Given the description of an element on the screen output the (x, y) to click on. 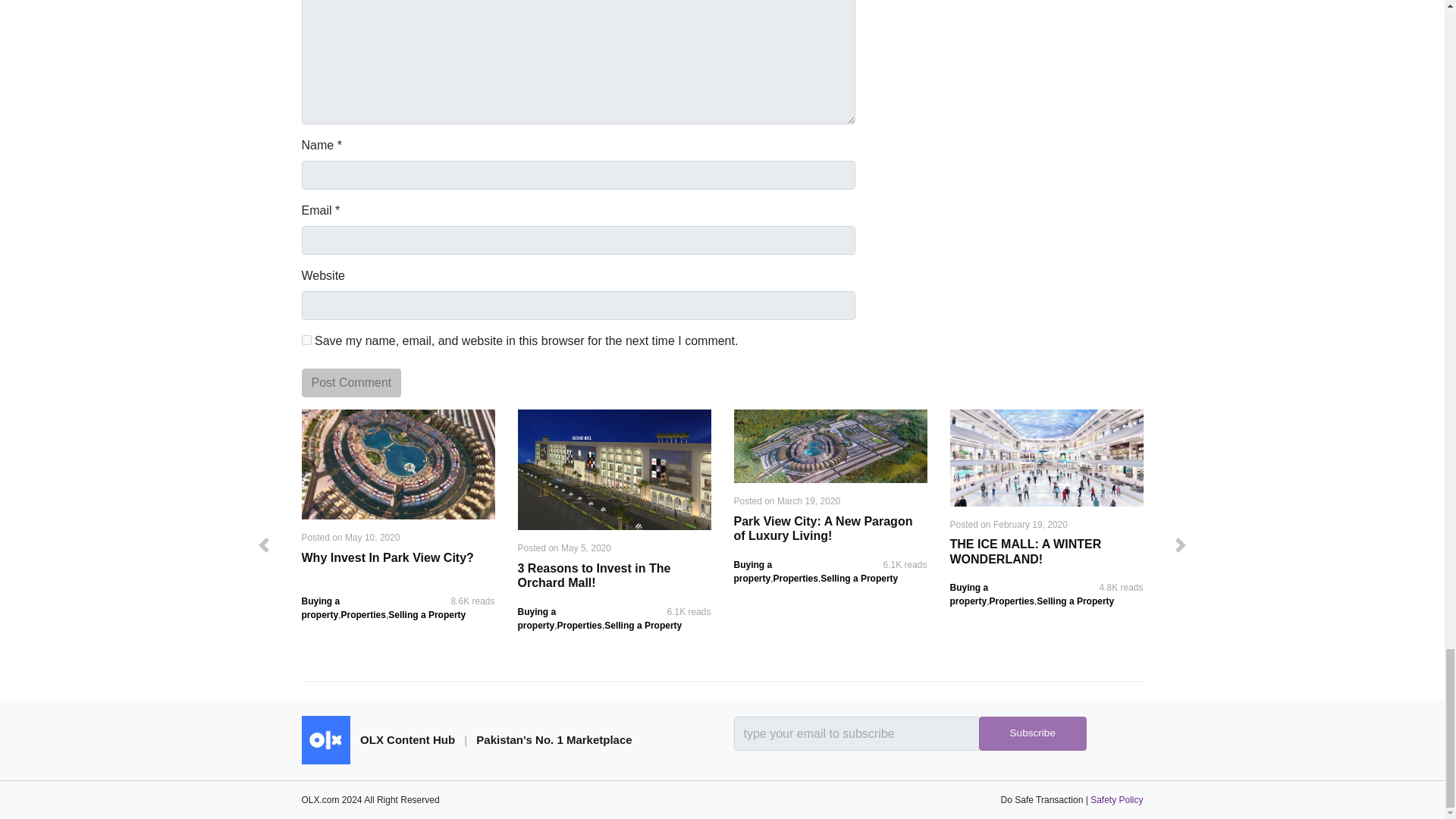
yes (306, 339)
Post Comment (351, 382)
Subscribe (1032, 733)
